Given the description of an element on the screen output the (x, y) to click on. 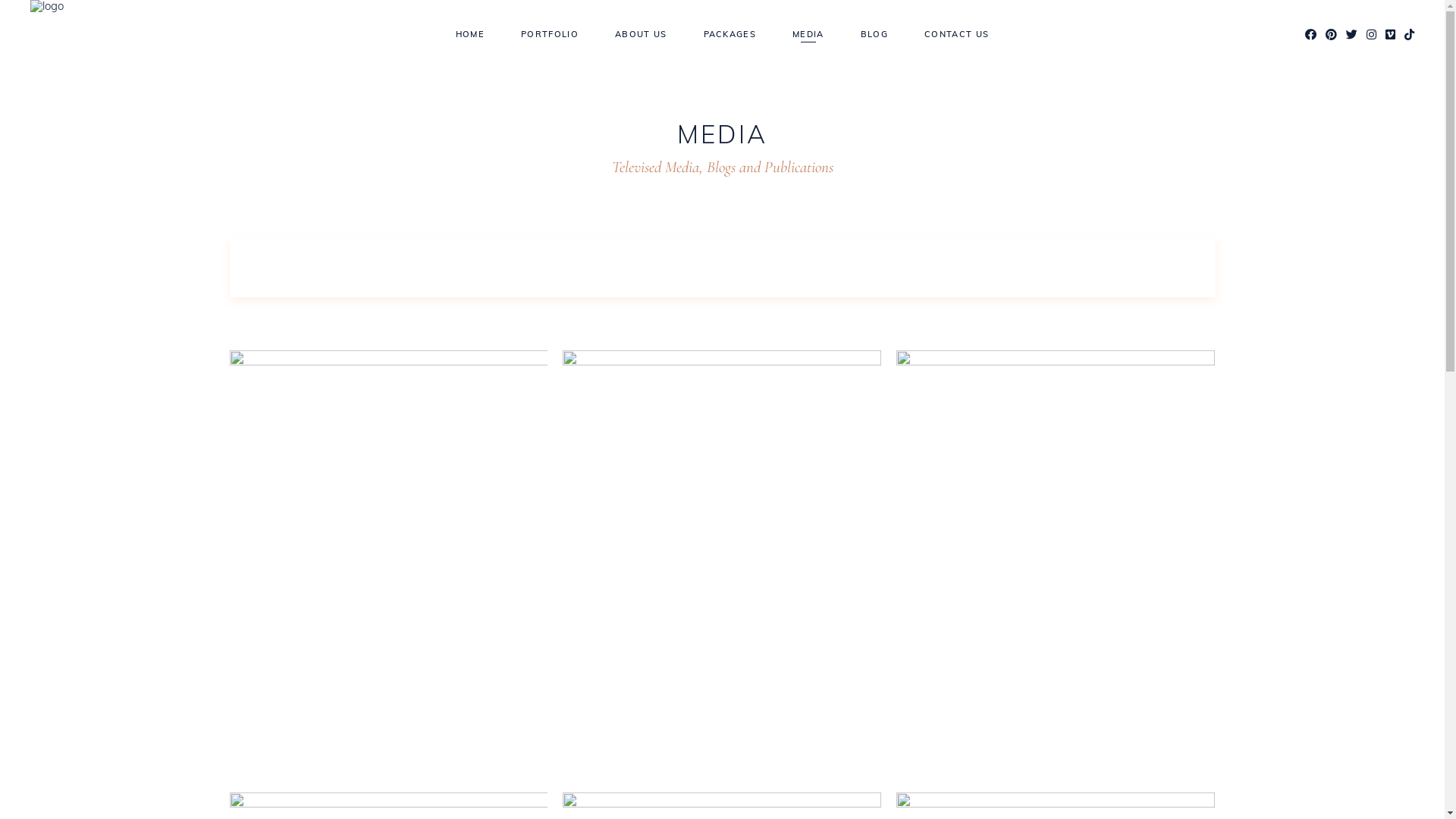
Tiktok Element type: hover (1409, 34)
Vimeo Element type: hover (1390, 34)
Facebook Element type: hover (1310, 34)
HOME Element type: text (469, 34)
Twitter Element type: hover (1351, 34)
PACKAGES Element type: text (730, 34)
Submit Element type: text (21, 7)
ABOUT US Element type: text (640, 34)
PORTFOLIO Element type: text (549, 34)
MEDIA Element type: text (808, 34)
CONTACT US Element type: text (956, 34)
BLOG Element type: text (874, 34)
Instagram Element type: hover (1371, 34)
Pinterest Element type: hover (1330, 34)
